Given the description of an element on the screen output the (x, y) to click on. 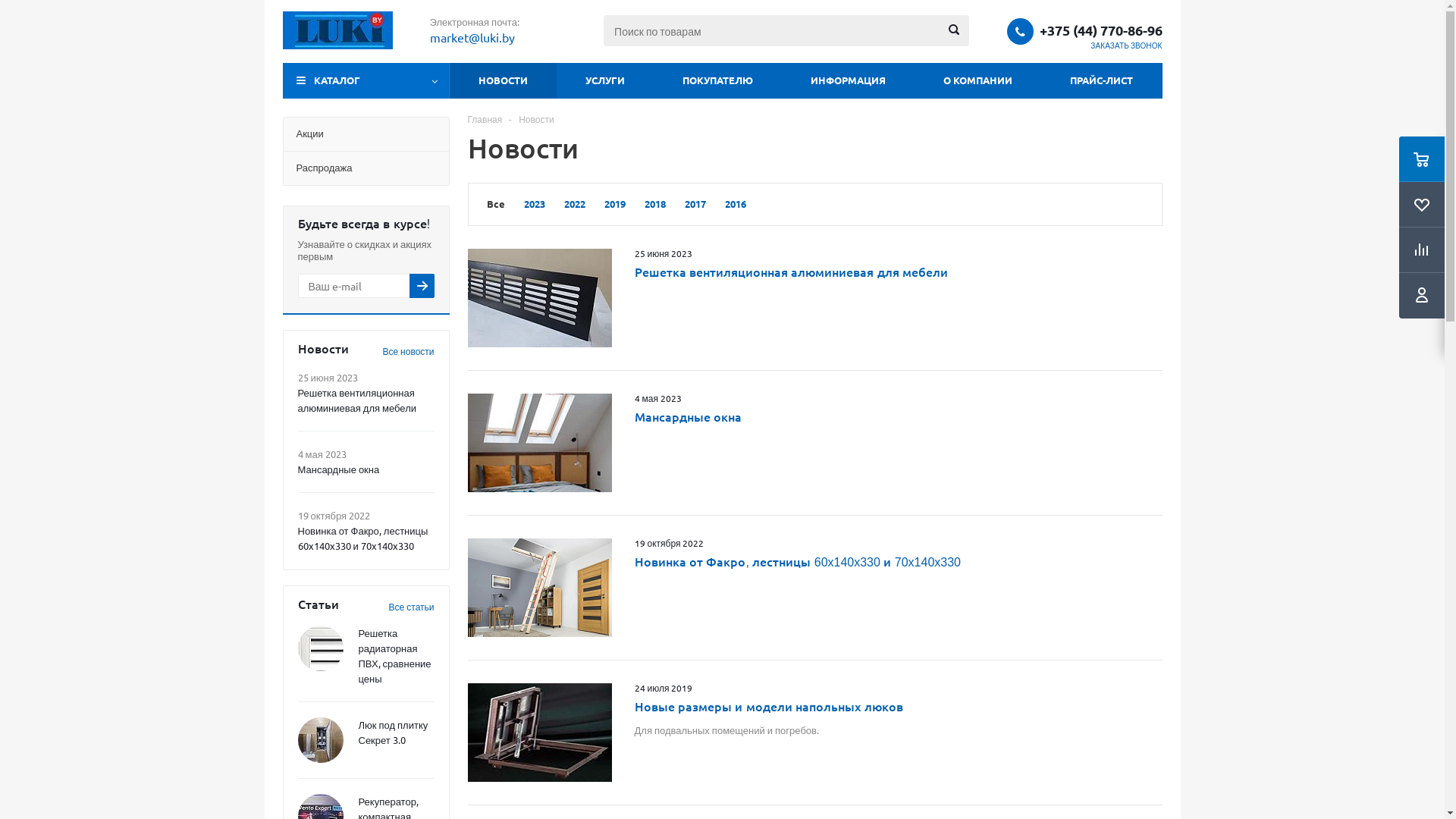
2023 Element type: text (533, 203)
+375 (44) 770-86-96 Element type: text (1099, 30)
2017 Element type: text (694, 203)
2019 Element type: text (613, 203)
market@luki.by Element type: text (471, 37)
2018 Element type: text (654, 203)
2022 Element type: text (574, 203)
2016 Element type: text (735, 203)
